Given the description of an element on the screen output the (x, y) to click on. 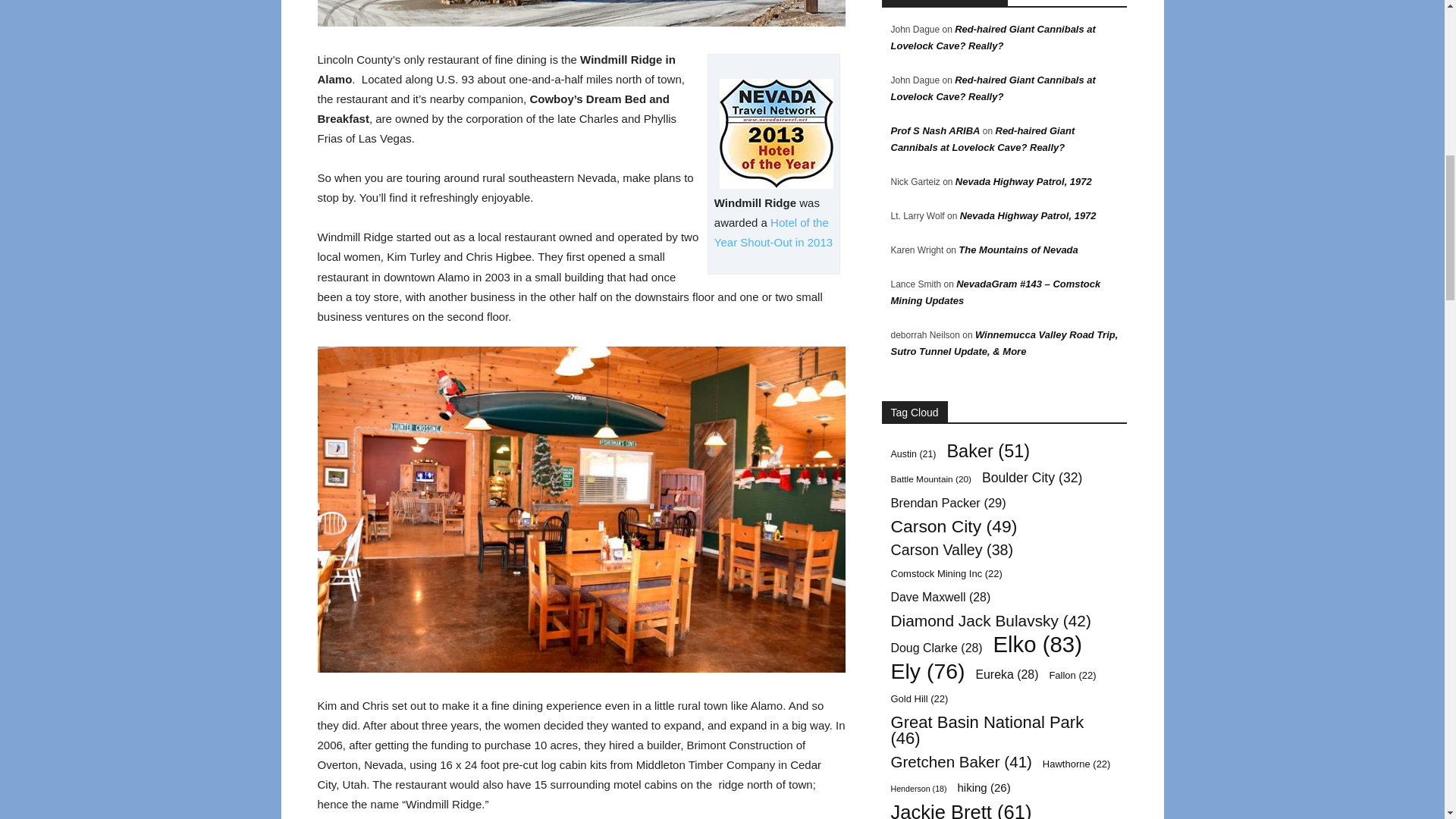
Hotel of the Year Shout-Out in 2013 (773, 232)
